Given the description of an element on the screen output the (x, y) to click on. 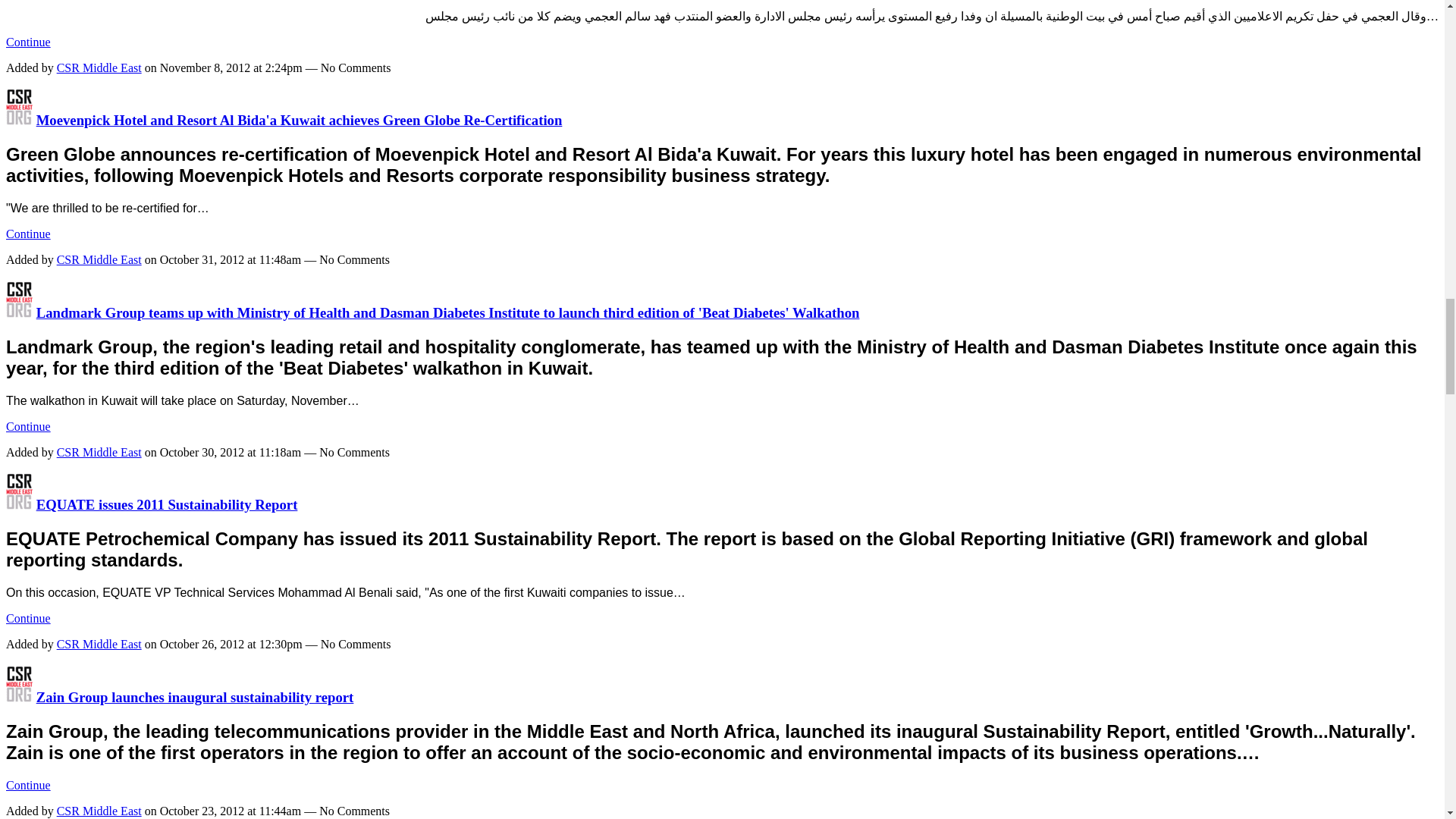
CSR Middle East (18, 312)
CSR Middle East (18, 504)
CSR Middle East (18, 697)
CSR Middle East (18, 119)
